Given the description of an element on the screen output the (x, y) to click on. 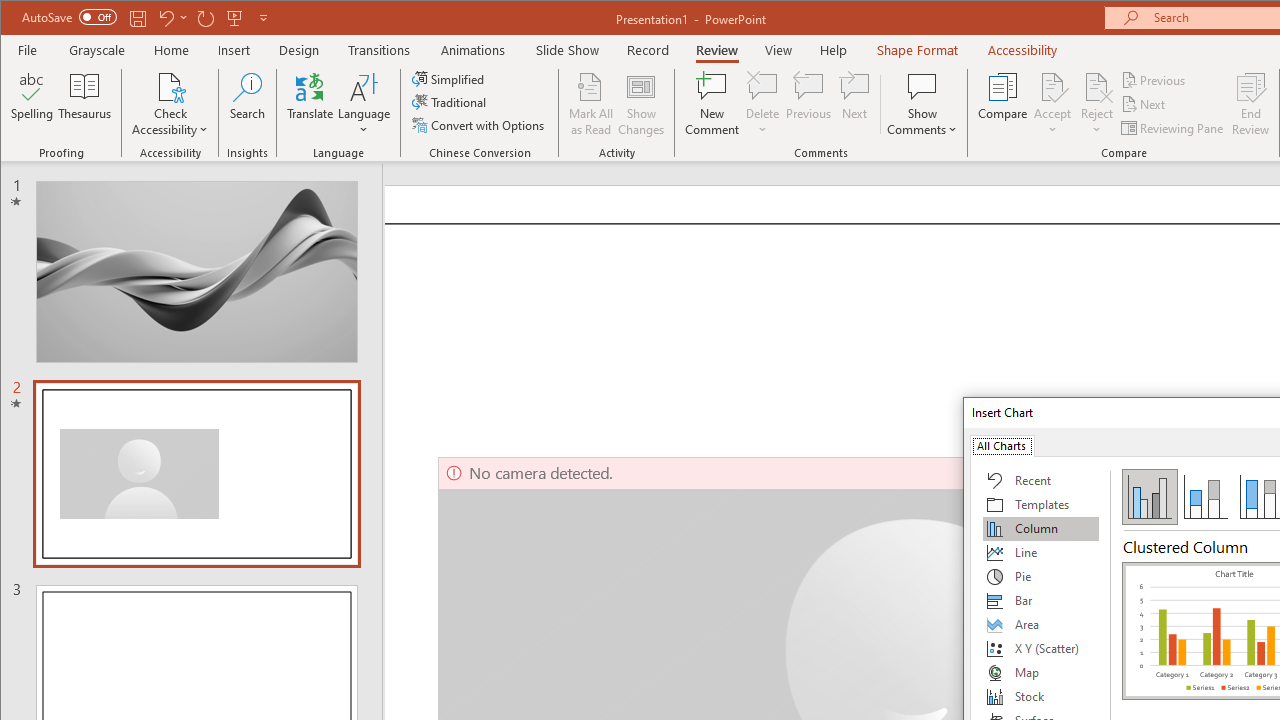
Pie (1041, 576)
Column (1041, 528)
